Given the description of an element on the screen output the (x, y) to click on. 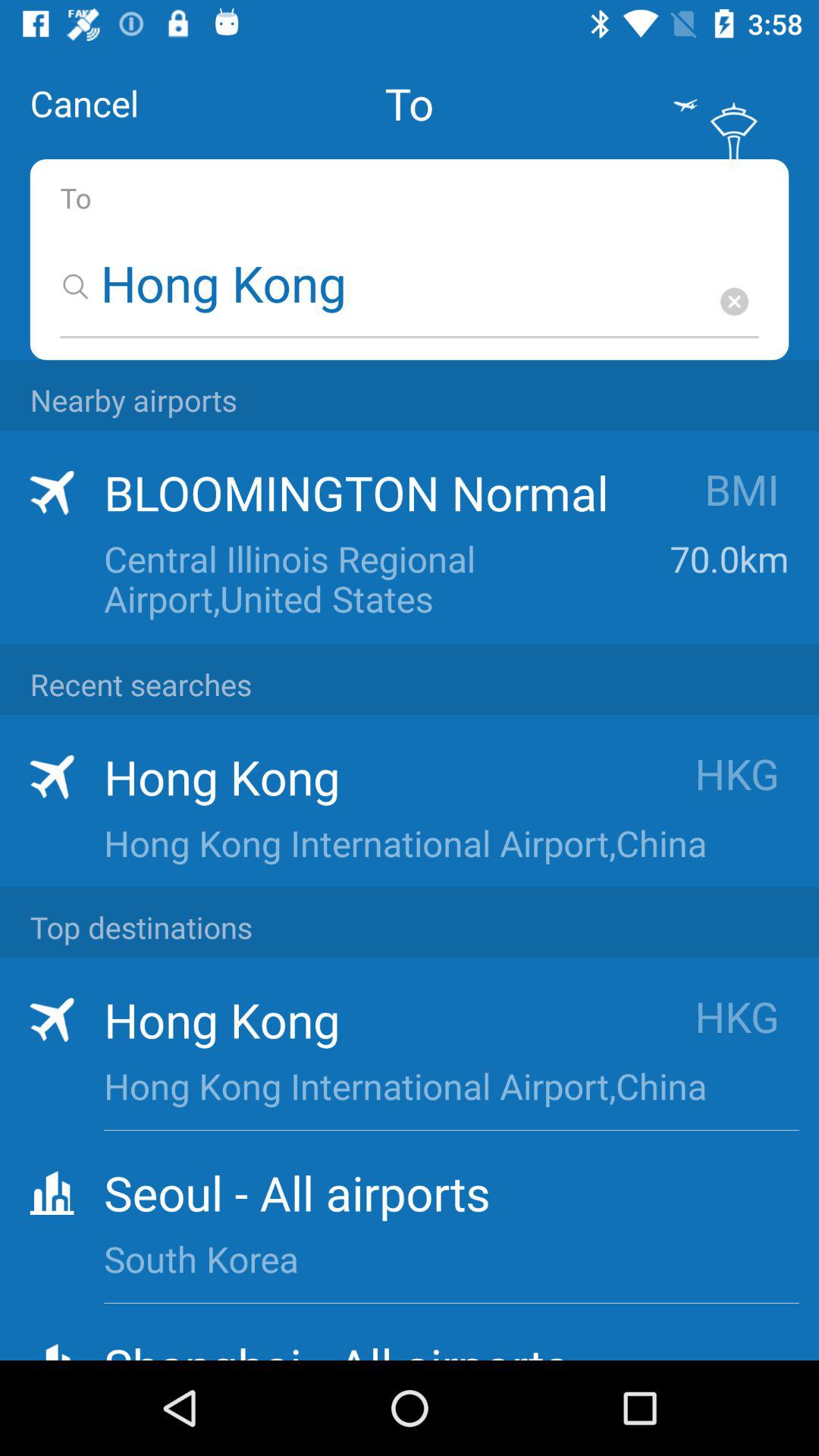
clear search box (734, 301)
